Given the description of an element on the screen output the (x, y) to click on. 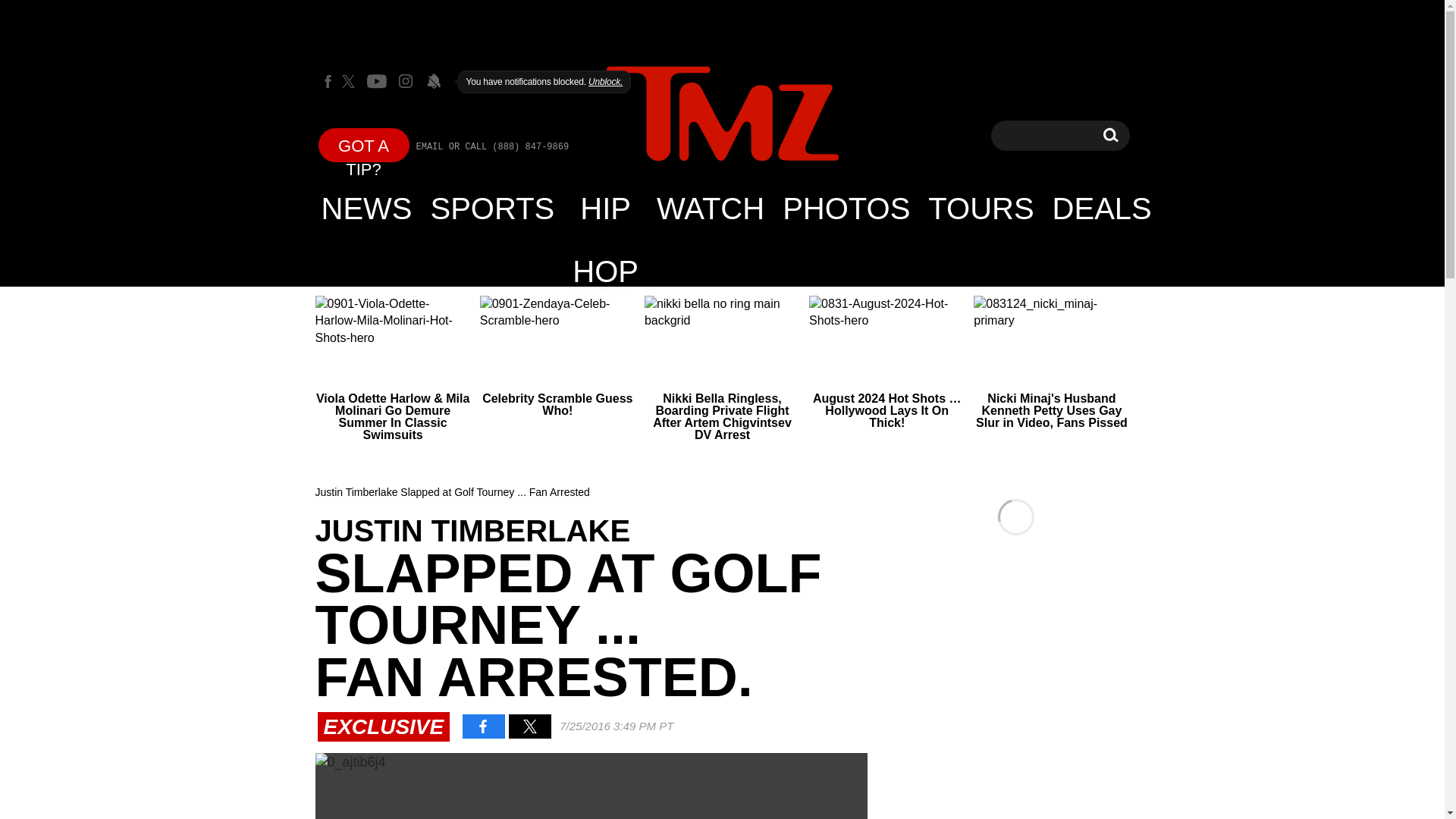
TMZ (722, 113)
TMZ (722, 115)
HIP HOP (605, 207)
GOT A TIP? (363, 144)
WATCH (710, 207)
NEWS (367, 207)
Search (1110, 134)
DEALS (1110, 135)
